Given the description of an element on the screen output the (x, y) to click on. 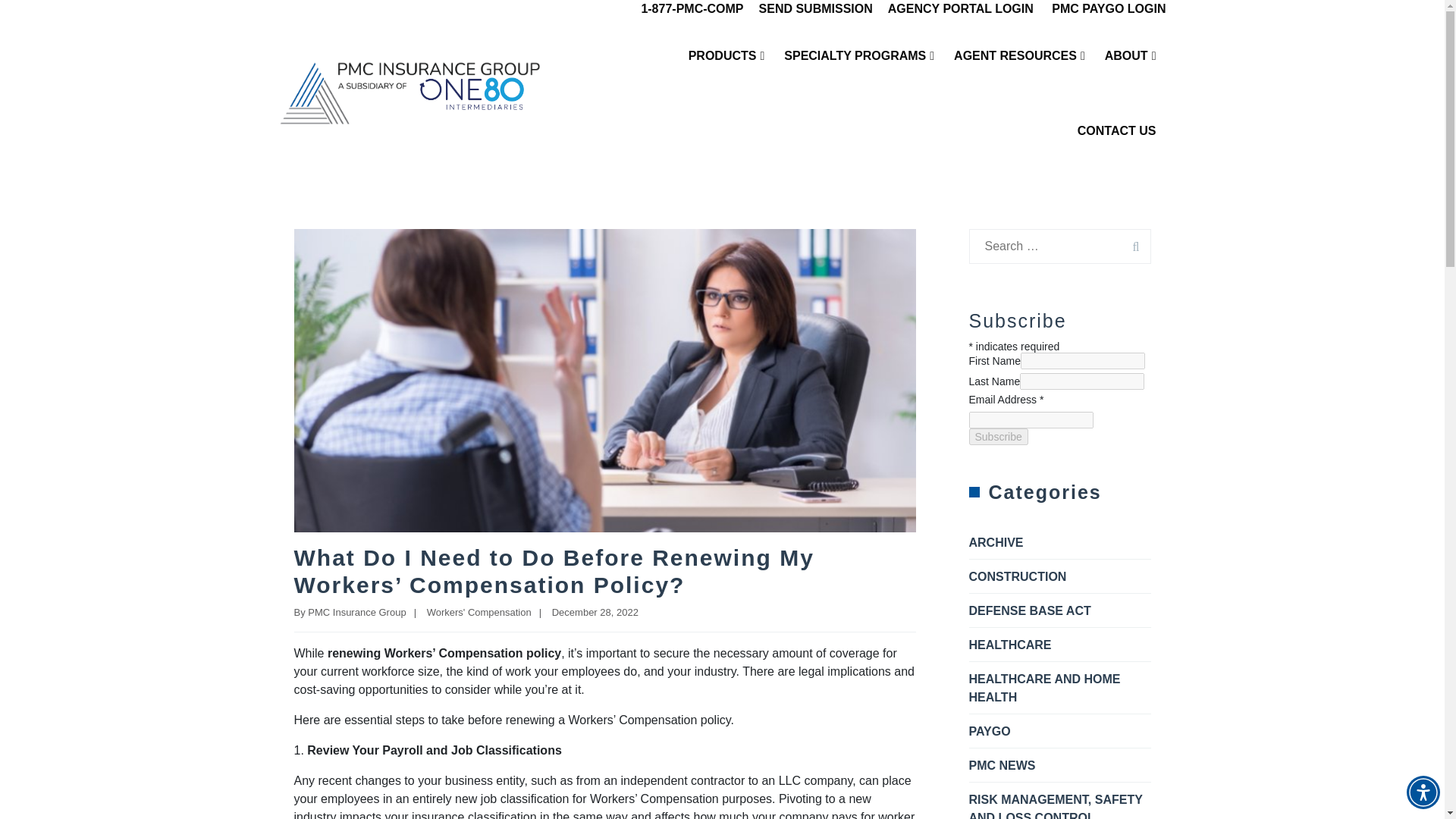
1-877-PMC-COMP (691, 9)
PMC Insurance Group (356, 612)
AGENCY PORTAL LOGIN (960, 9)
December 28, 2022 (595, 612)
PRODUCTS (726, 55)
CONTACT US (1116, 130)
Subscribe (998, 436)
Accessibility Menu (1422, 792)
PMC PAYGO LOGIN (1108, 9)
SEND SUBMISSION (815, 9)
Workers' Compensation (478, 612)
SPECIALTY PROGRAMS (859, 55)
AGENT RESOURCES (1018, 55)
